Given the description of an element on the screen output the (x, y) to click on. 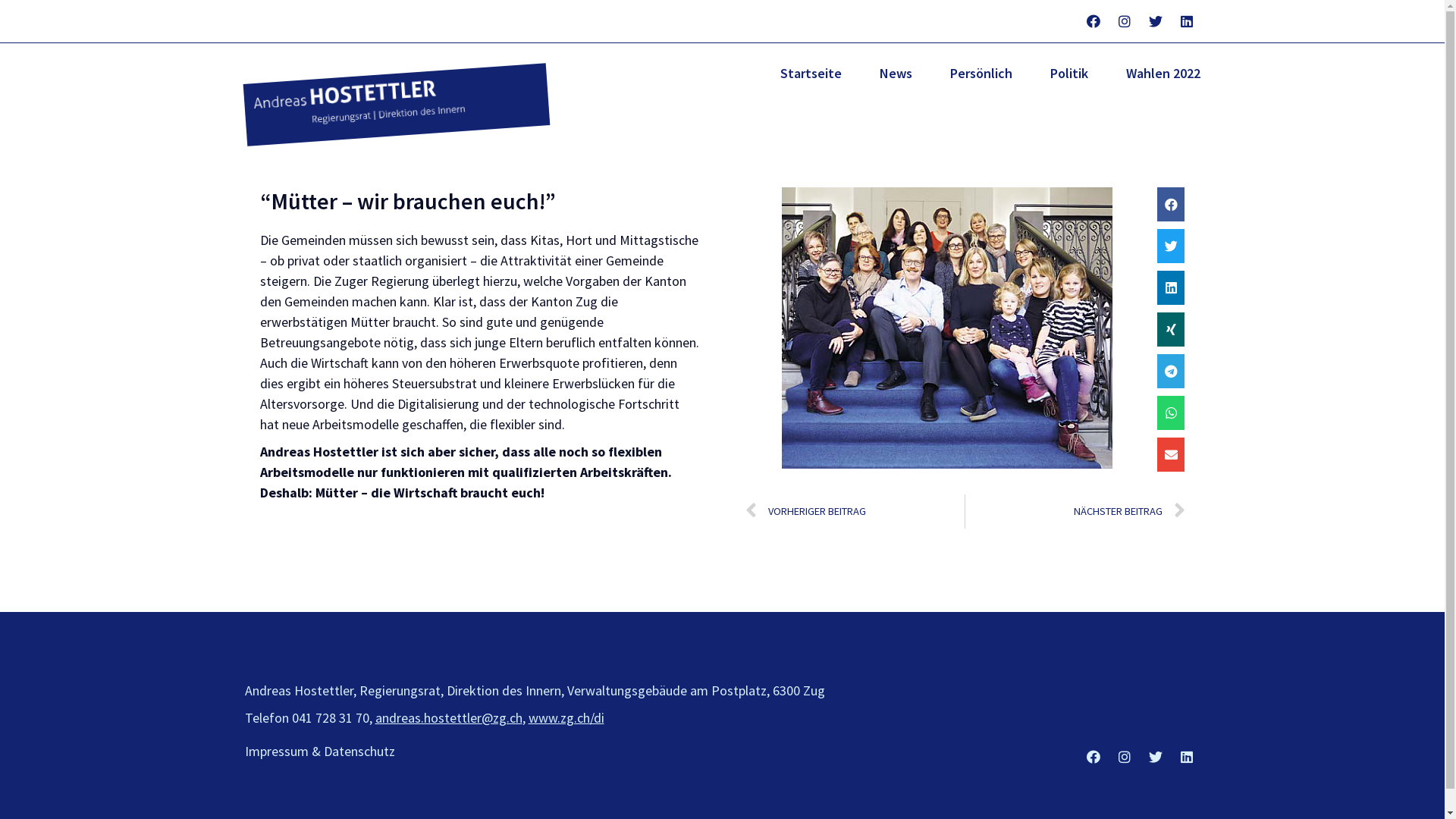
VORHERIGER BEITRAG Element type: text (854, 511)
Politik Element type: text (1068, 73)
News Element type: text (895, 73)
Startseite Element type: text (809, 73)
Wahlen 2022 Element type: text (1162, 73)
Impressum & Datenschutz Element type: text (319, 751)
andreas.hostettler@zg.ch Element type: text (447, 717)
www.zg.ch/di Element type: text (565, 717)
